Given the description of an element on the screen output the (x, y) to click on. 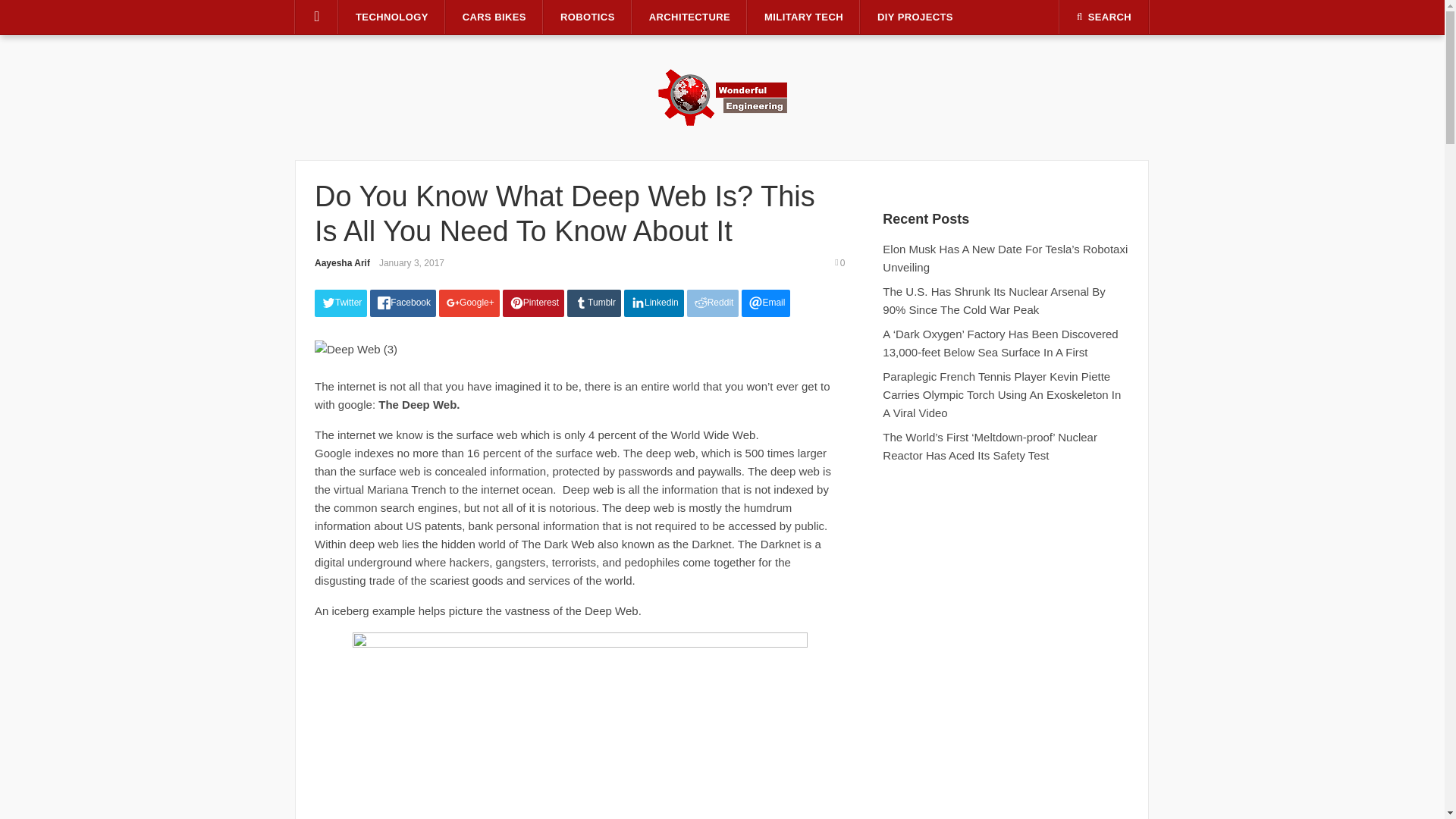
ROBOTICS (587, 17)
Pinterest (533, 302)
Tumblr (594, 302)
ARCHITECTURE (688, 17)
Facebook (402, 302)
DIY PROJECTS (914, 17)
SEARCH (1104, 16)
Email (765, 302)
Wonderful Engineering (722, 95)
TECHNOLOGY (392, 17)
Linkedin (654, 302)
0 (842, 262)
Reddit (713, 302)
MILITARY TECH (804, 17)
